Given the description of an element on the screen output the (x, y) to click on. 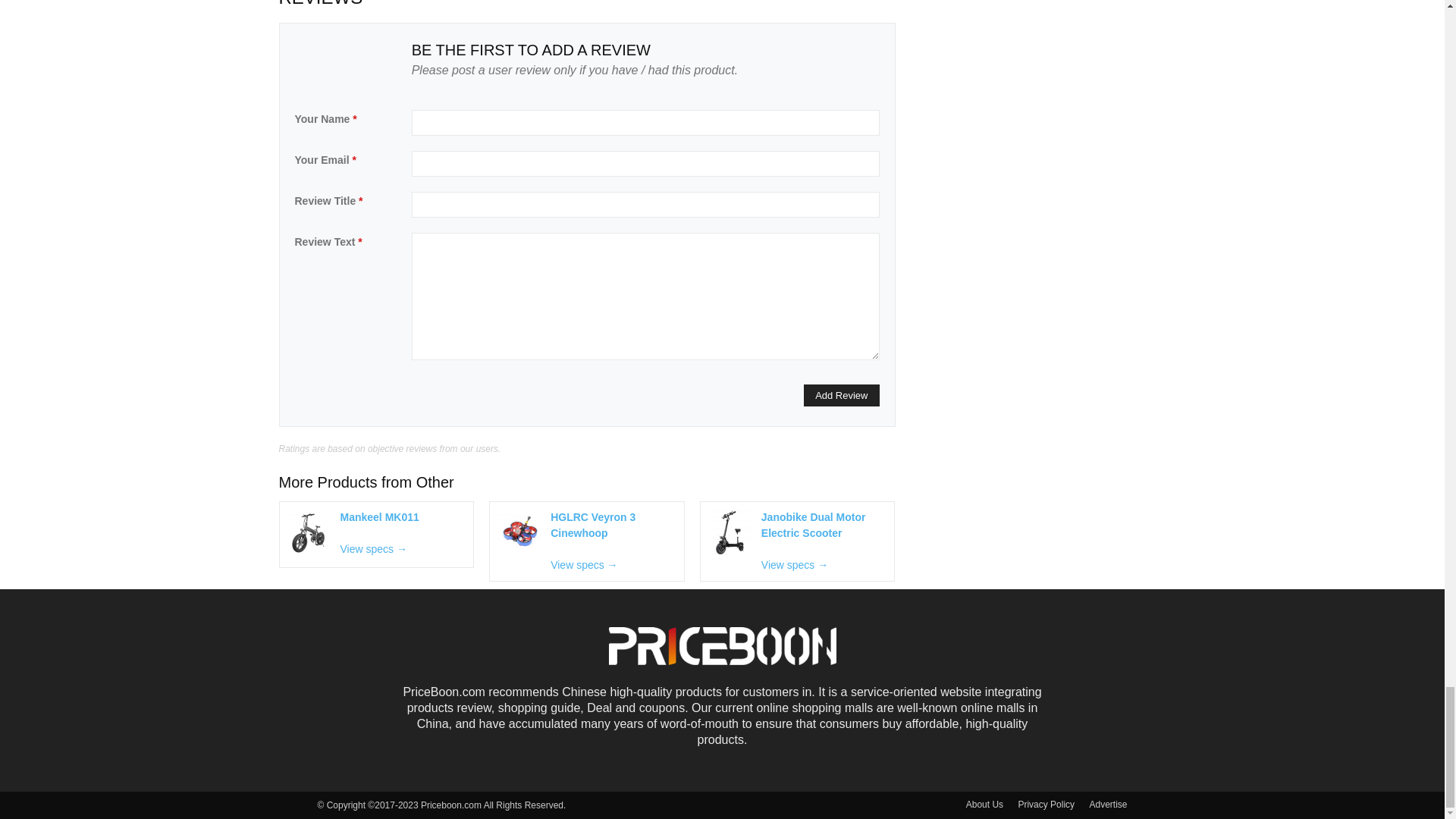
Add Review (841, 395)
